Given the description of an element on the screen output the (x, y) to click on. 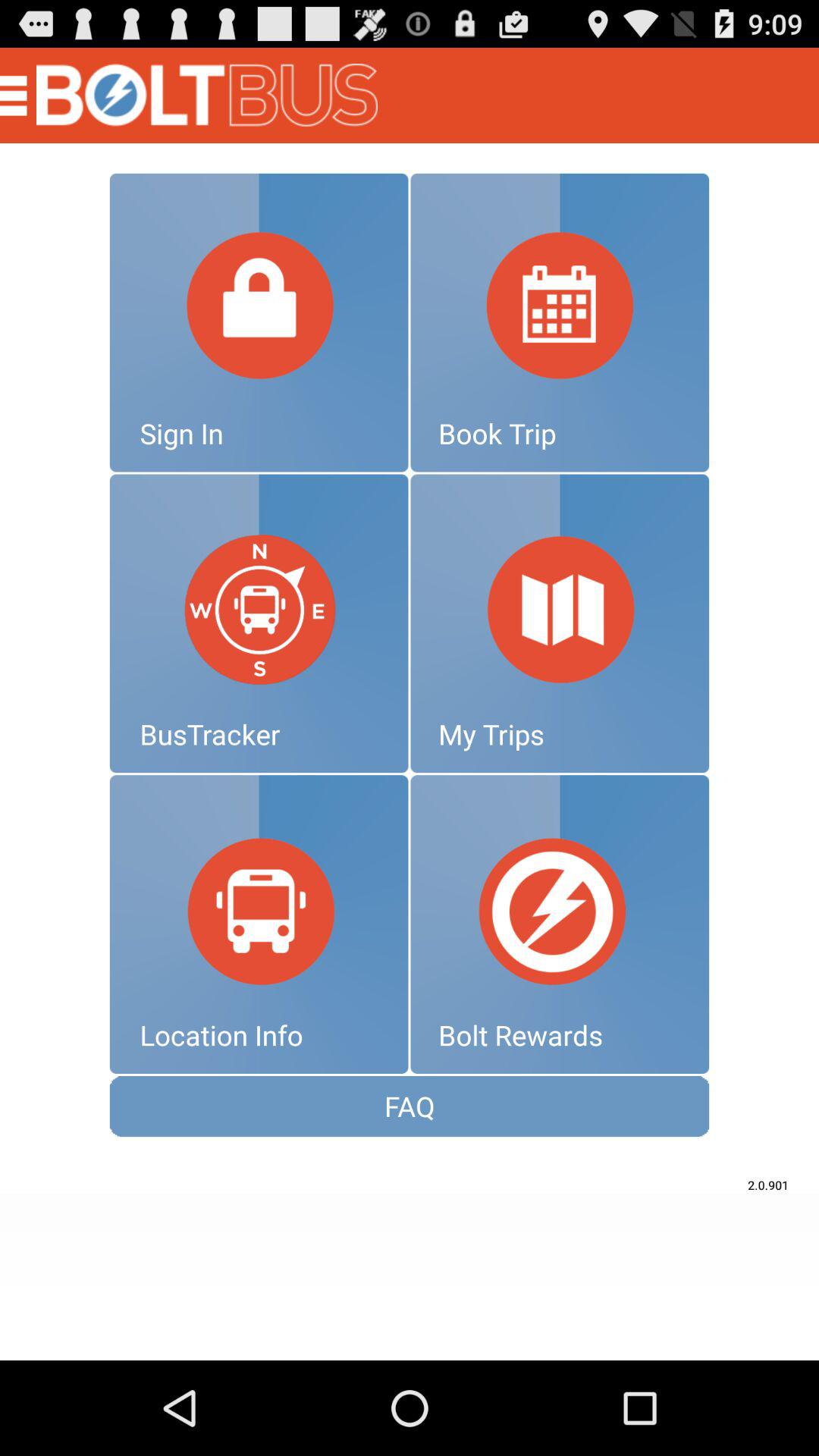
turn on the item above the faq icon (258, 924)
